Given the description of an element on the screen output the (x, y) to click on. 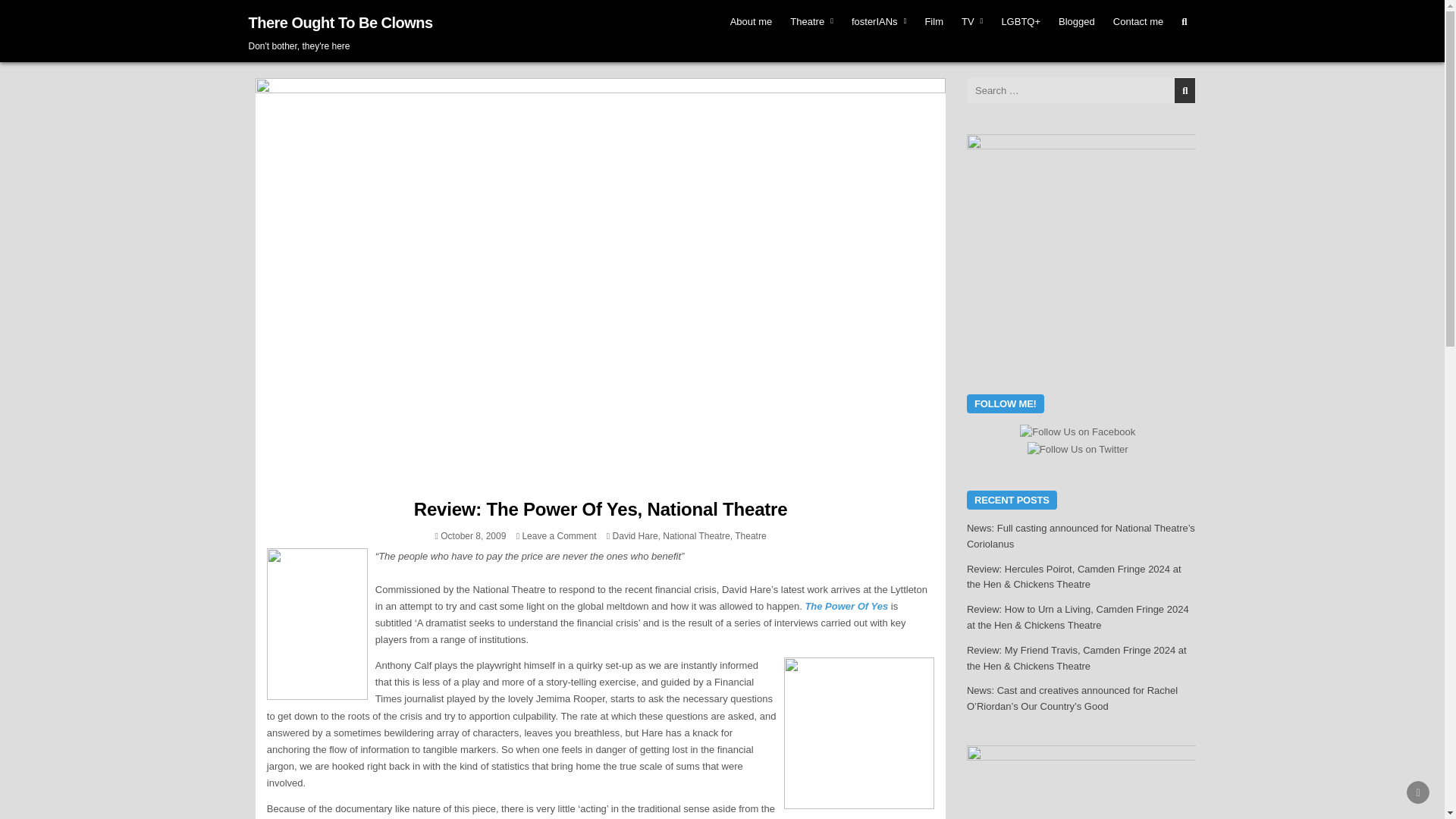
Theatre (811, 21)
There Ought To Be Clowns (340, 22)
About me (750, 21)
SCROLL TO TOP (1417, 792)
